Given the description of an element on the screen output the (x, y) to click on. 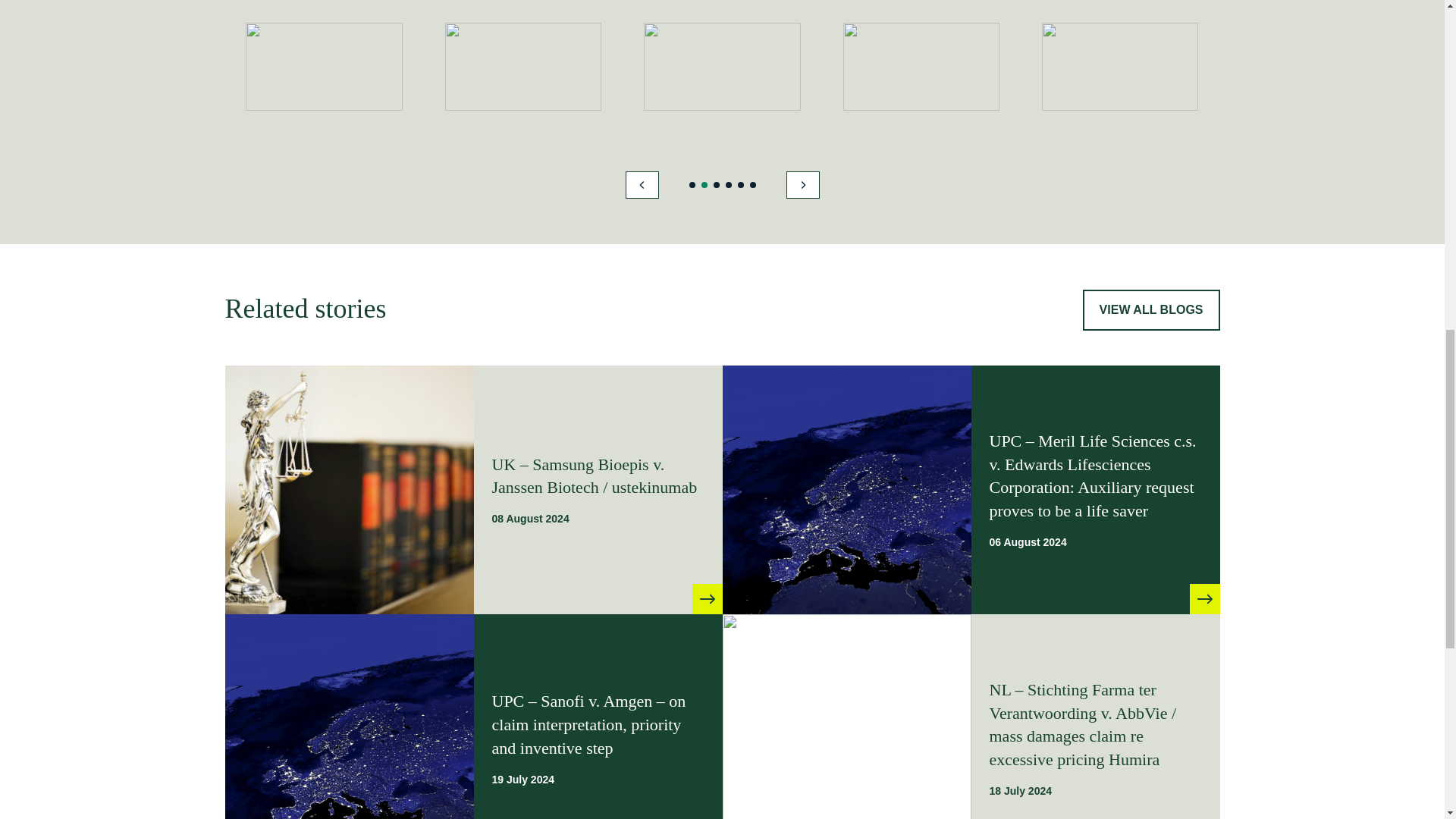
Previous Slide (641, 185)
VIEW ALL BLOGS (1151, 309)
Next Slide (802, 185)
